Given the description of an element on the screen output the (x, y) to click on. 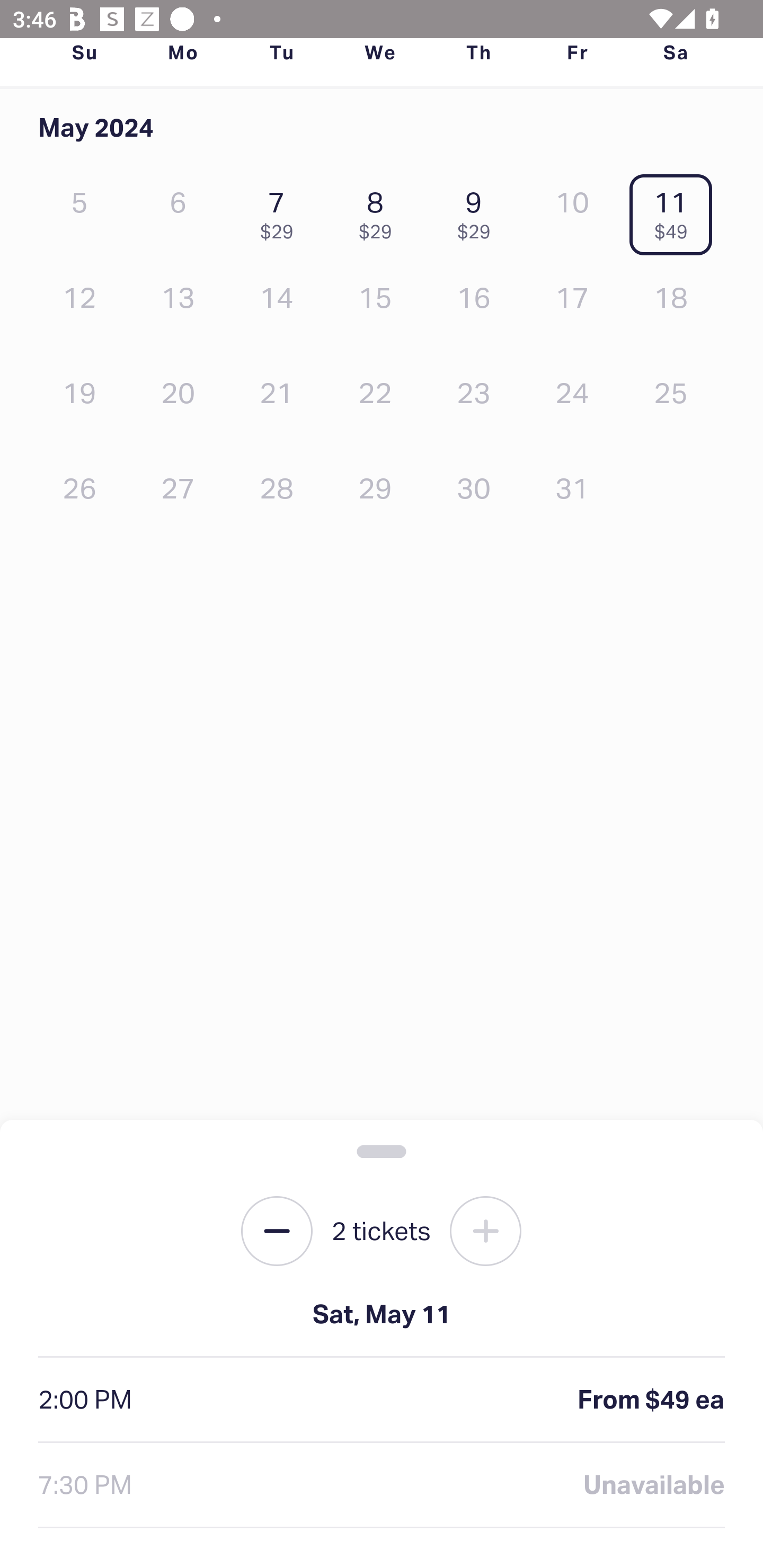
7 $29 (281, 210)
8 $29 (379, 210)
9 $29 (478, 210)
11 $49 (675, 210)
2:00 PM From $49 ea (381, 1399)
7:30 PM Unavailable (381, 1485)
